Given the description of an element on the screen output the (x, y) to click on. 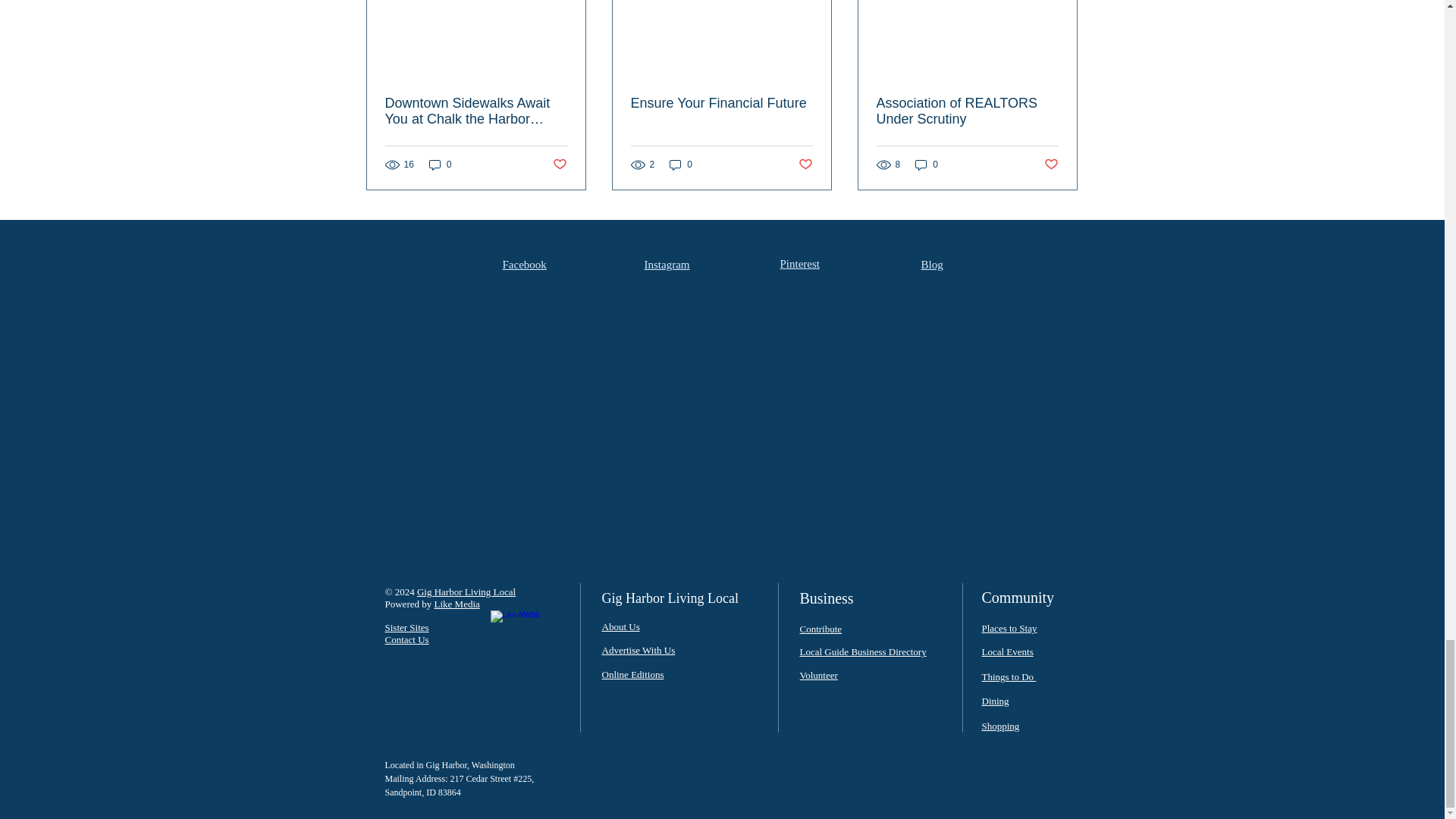
Downtown Sidewalks Await You at Chalk the Harbor 2024!... (476, 111)
Downtown Sidewalks Await You at Chalk the Harbor 2024!... (475, 38)
Downtown Sidewalks Await You at Chalk the Harbor 2024!... (440, 164)
